Given the description of an element on the screen output the (x, y) to click on. 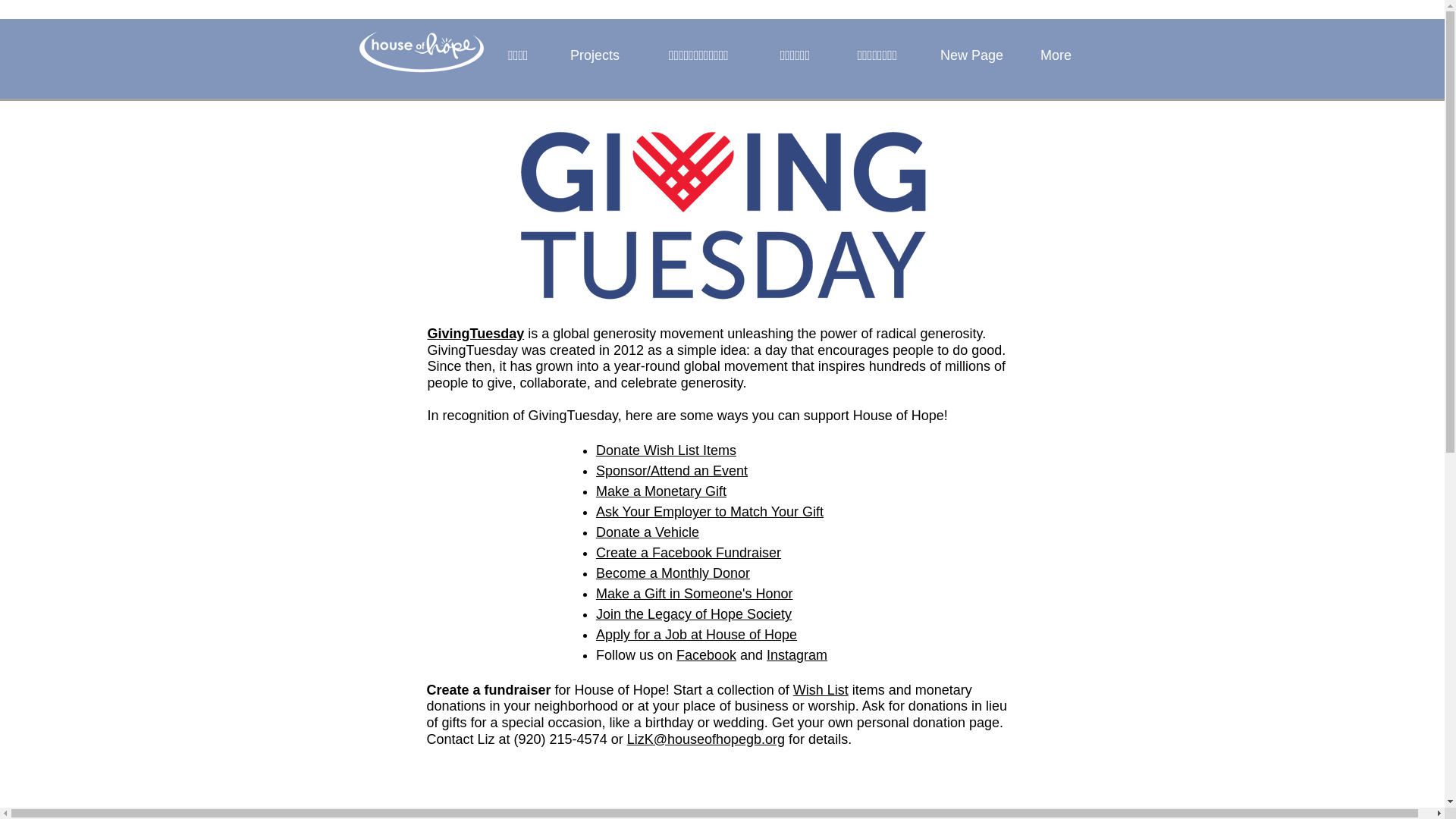
Become a Monthly Donor (672, 572)
GivingTuesday (476, 333)
Join the Legacy of Hope Society (693, 613)
Donate a Vehicle (646, 531)
Giving Tuesday Color Stacked.png (723, 215)
Donate Wish List Items (665, 450)
Instagram (797, 654)
Apply for a Job at House of Hope (695, 634)
Ask Your Employer to Match Your Gift (709, 511)
Make a Gift in Someone's Honor (694, 593)
